Given the description of an element on the screen output the (x, y) to click on. 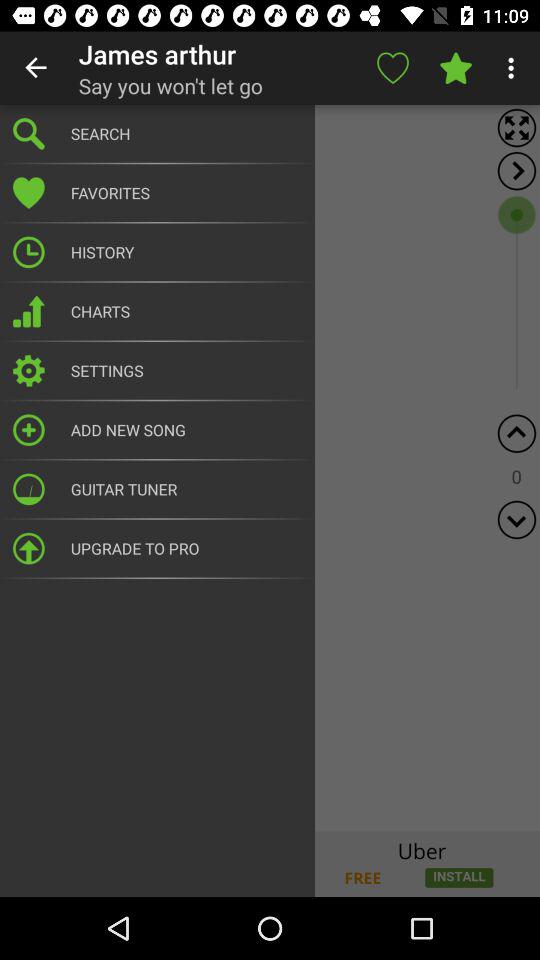
enter fullscrceen (516, 127)
